Given the description of an element on the screen output the (x, y) to click on. 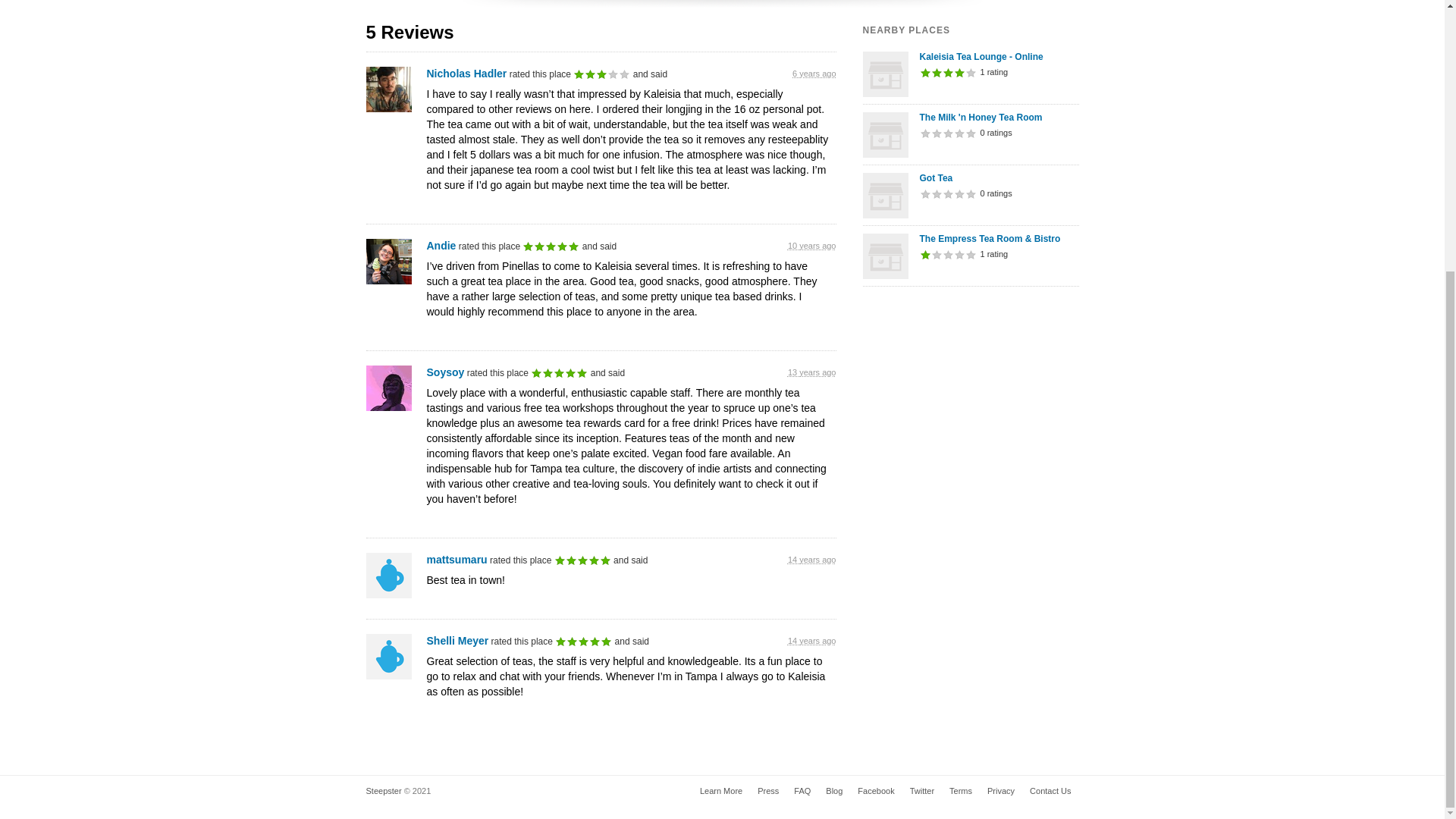
Soysoy (445, 372)
2010-05-04T16:59:58Z (811, 559)
Steepster on Facebook (875, 790)
Link to Privacy Policy (1000, 790)
Take a Tour of Steepster (721, 790)
10 years ago (811, 245)
Steepster on Twitter (922, 790)
2014-03-10T17:37:04Z (811, 245)
Andie (440, 245)
6 years ago (813, 72)
